Given the description of an element on the screen output the (x, y) to click on. 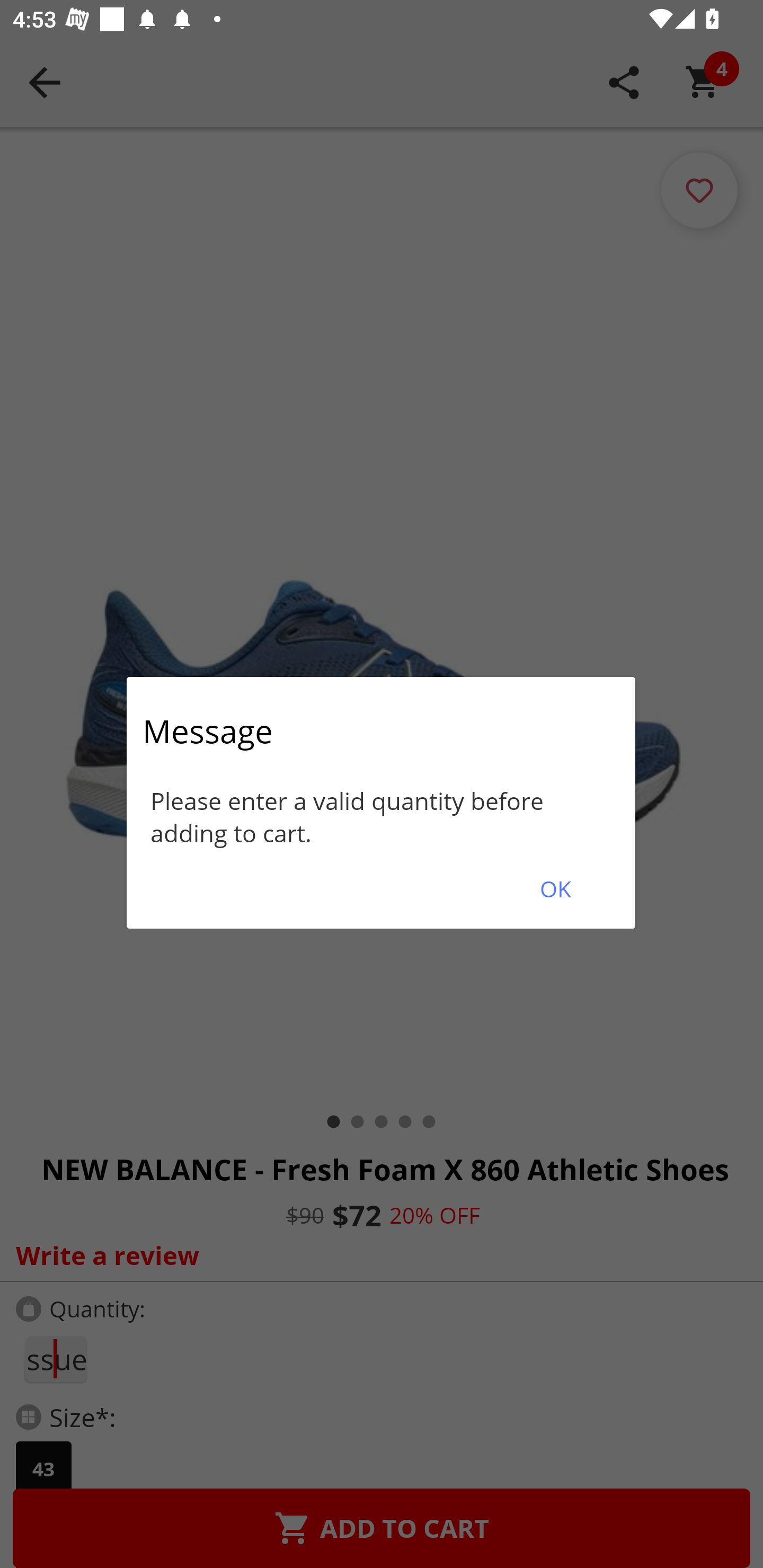
OK (555, 888)
